Given the description of an element on the screen output the (x, y) to click on. 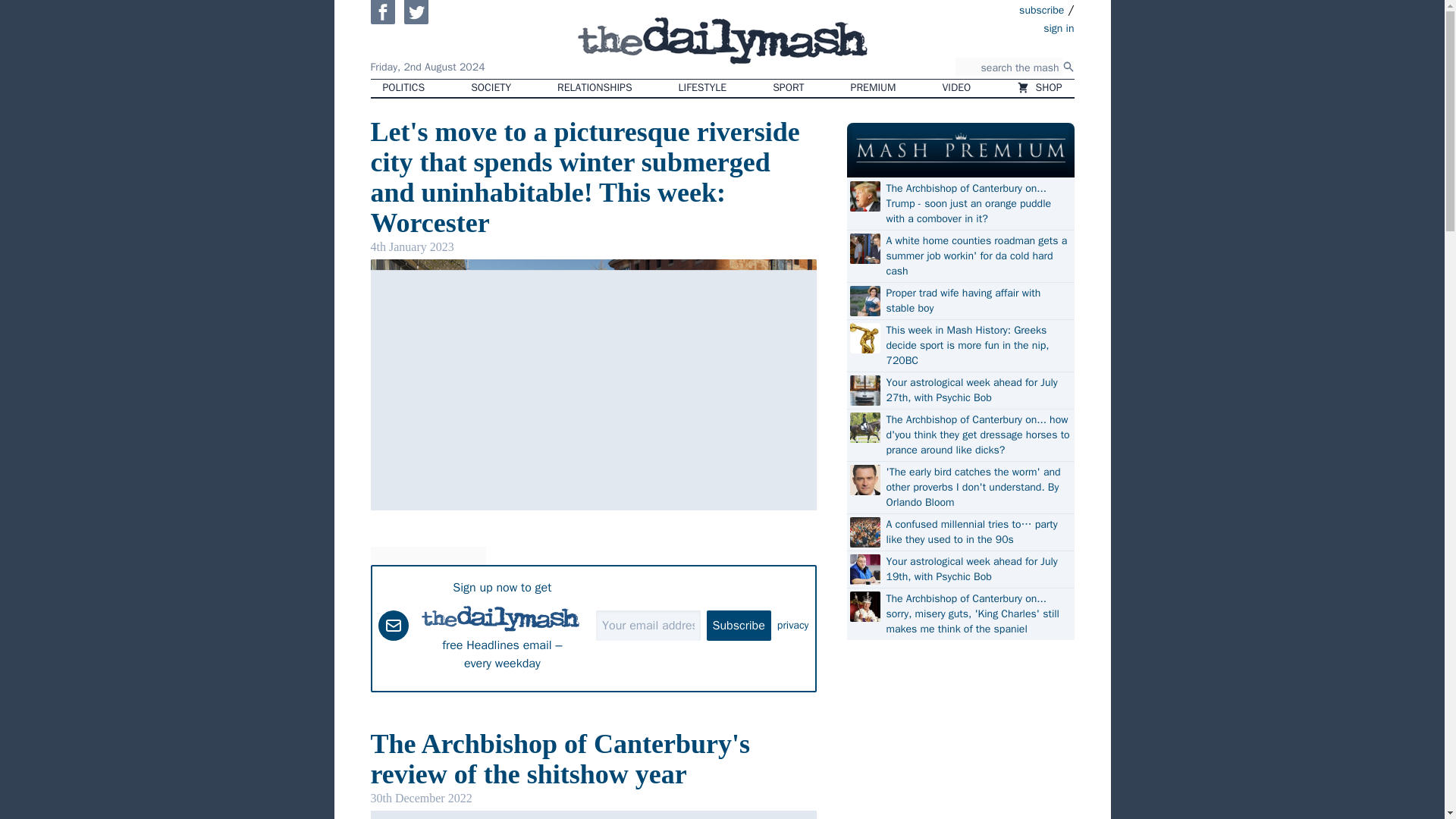
sign in (970, 27)
SOCIETY (490, 88)
subscribe (1041, 9)
Subscribe (738, 624)
Your astrological week ahead for July 27th, with Psychic Bob (977, 390)
POLITICS (402, 88)
RELATIONSHIPS (593, 88)
SHOP (1039, 88)
